Given the description of an element on the screen output the (x, y) to click on. 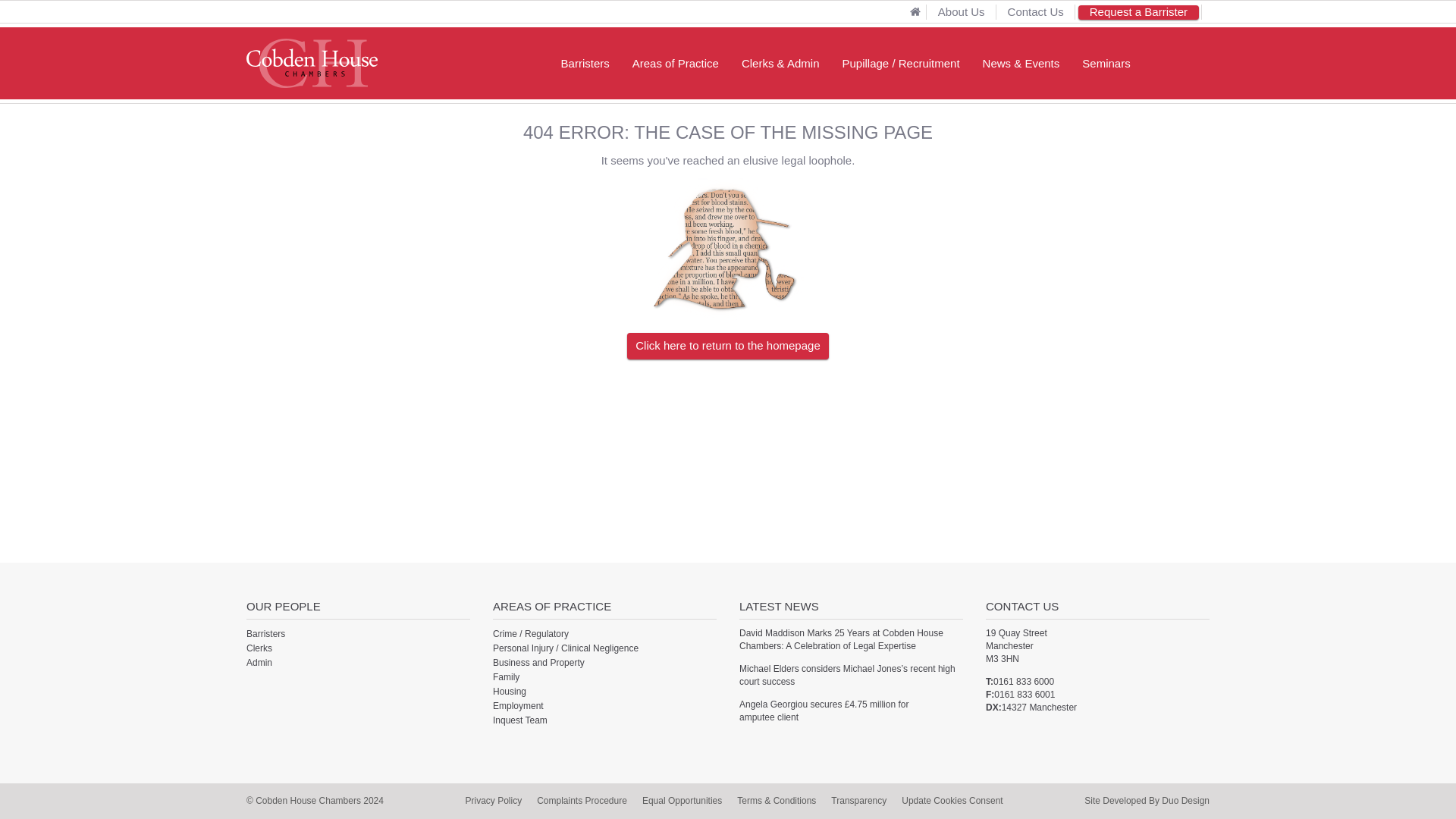
Areas of Practice (675, 63)
Clerks (259, 647)
Family (506, 676)
Employment (518, 706)
Complaints Procedure (581, 800)
About Us (960, 11)
Admin (259, 662)
Contact Us (1035, 11)
Business and Property (539, 662)
Site Developed By Duo Design (1146, 800)
